Given the description of an element on the screen output the (x, y) to click on. 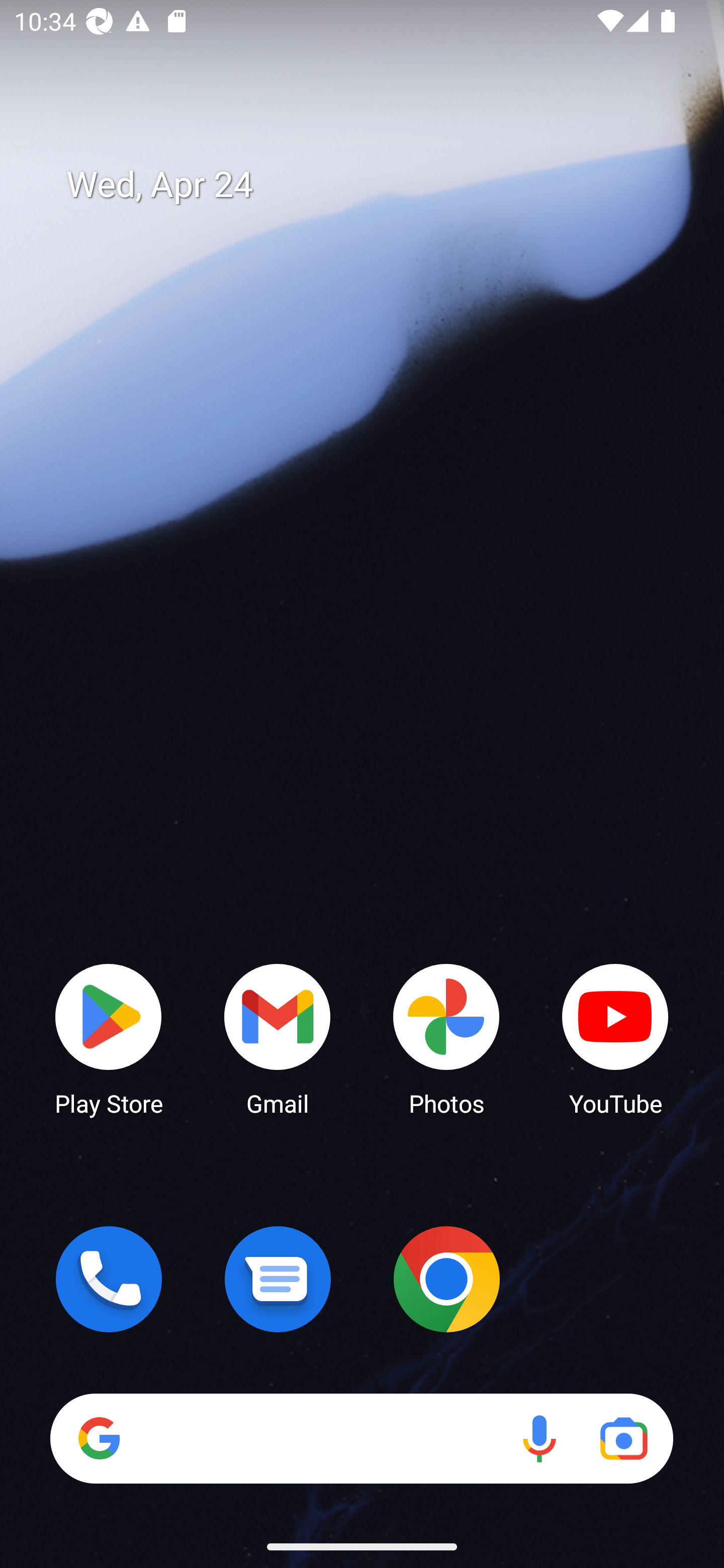
Wed, Apr 24 (375, 184)
Play Store (108, 1038)
Gmail (277, 1038)
Photos (445, 1038)
YouTube (615, 1038)
Phone (108, 1279)
Messages (277, 1279)
Chrome (446, 1279)
Search Voice search Google Lens (361, 1438)
Voice search (539, 1438)
Google Lens (623, 1438)
